Given the description of an element on the screen output the (x, y) to click on. 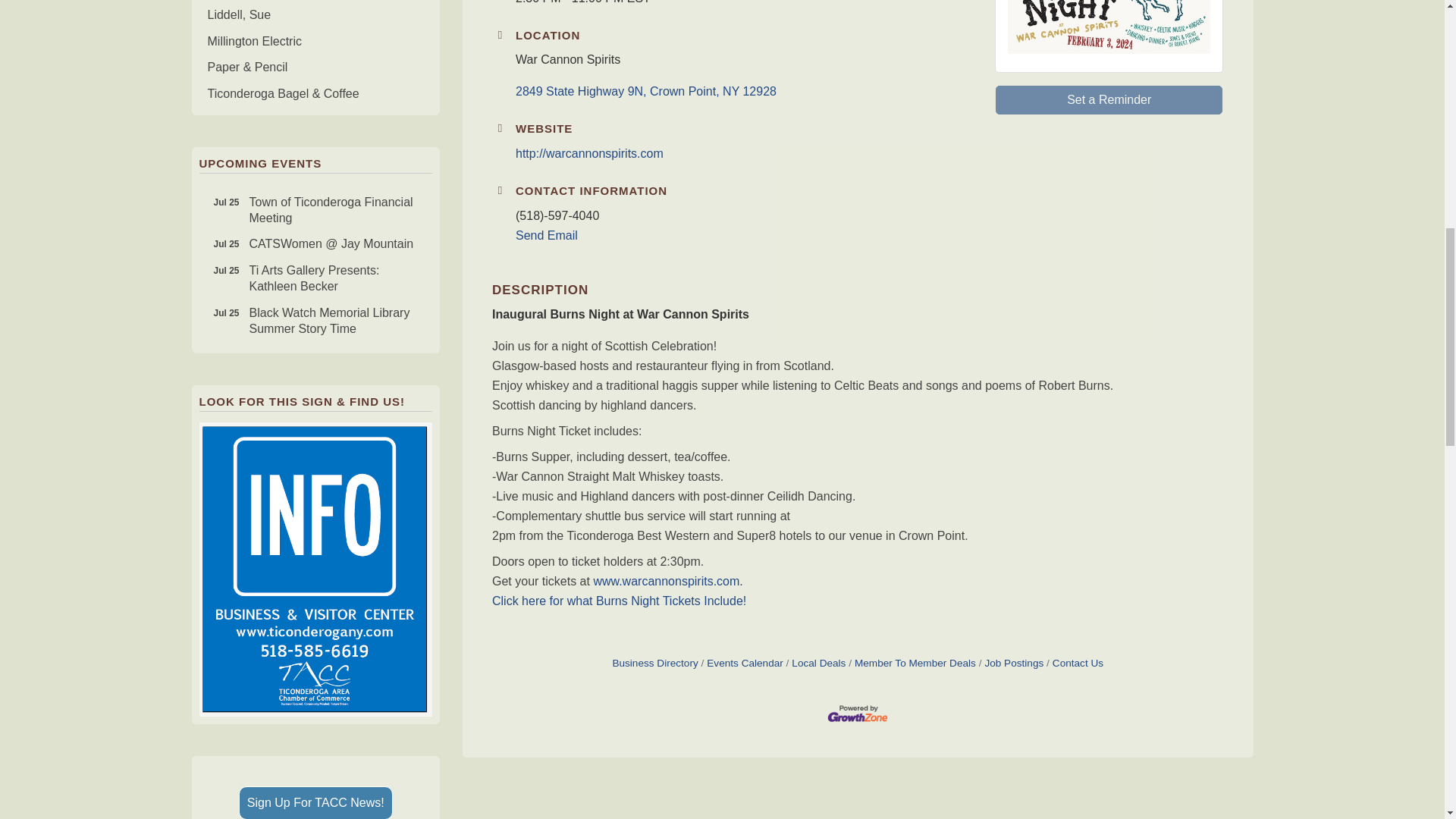
Black Watch Memorial Library Summer Story Time (315, 321)
Thatcher Enterprises (315, 210)
Liddell, Sue (227, 313)
Jul 25 (315, 15)
NCCC Mash Camp (227, 270)
Millington Electric (315, 176)
Ti Arts Gallery Presents: Kathleen Becker (315, 42)
Town of Ticonderoga Financial Meeting (315, 278)
NCCC Mash Camp (315, 210)
Jul 25 (315, 176)
Jul 25 (227, 244)
Liddell, Sue (315, 321)
